Given the description of an element on the screen output the (x, y) to click on. 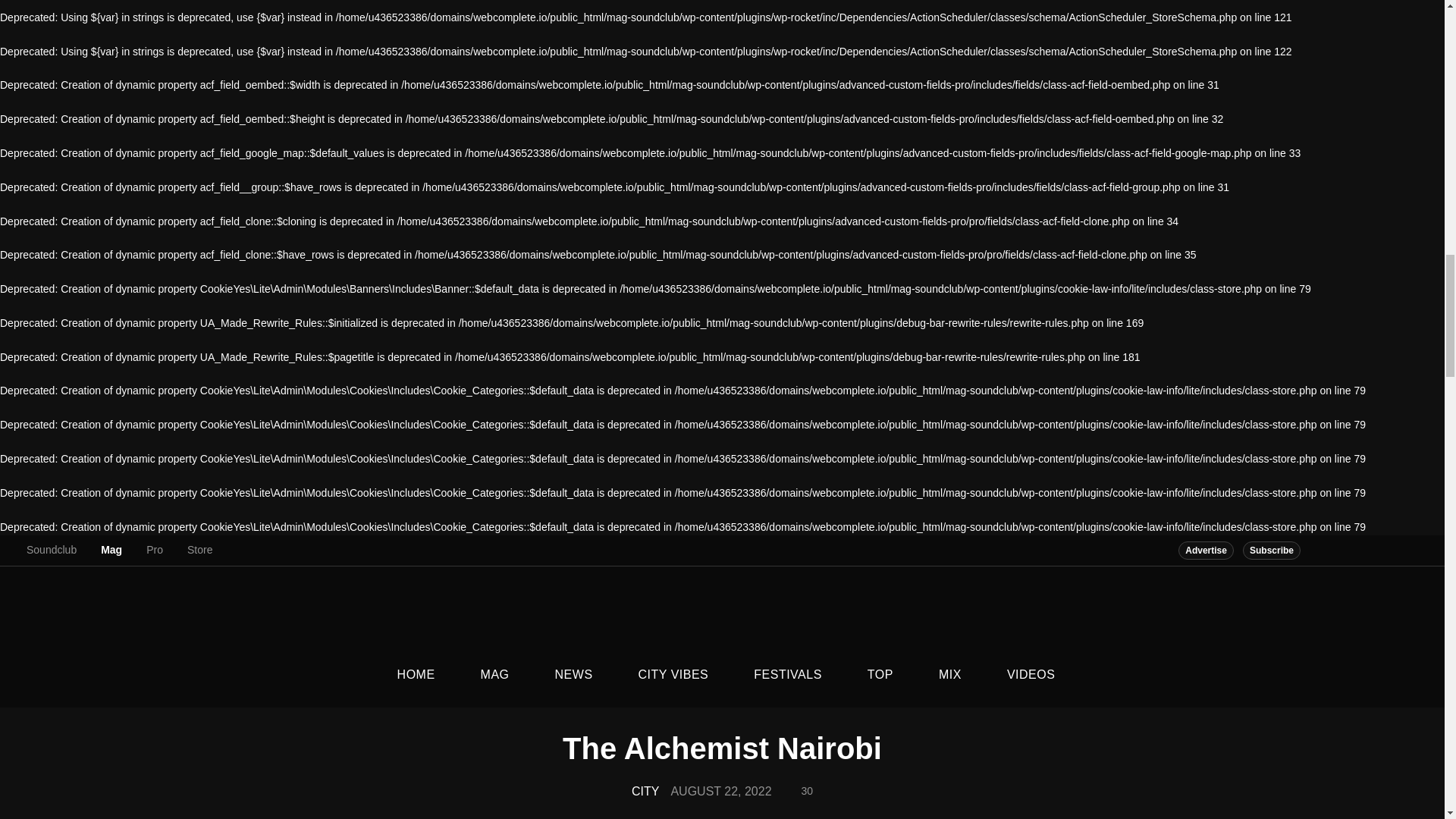
Search (1061, 741)
MAG (495, 674)
Mag (111, 549)
FESTIVALS (787, 674)
HOME (416, 674)
Store (199, 549)
CITY VIBES (673, 674)
MIX (949, 674)
NEWS (573, 674)
TOP (879, 674)
